Given the description of an element on the screen output the (x, y) to click on. 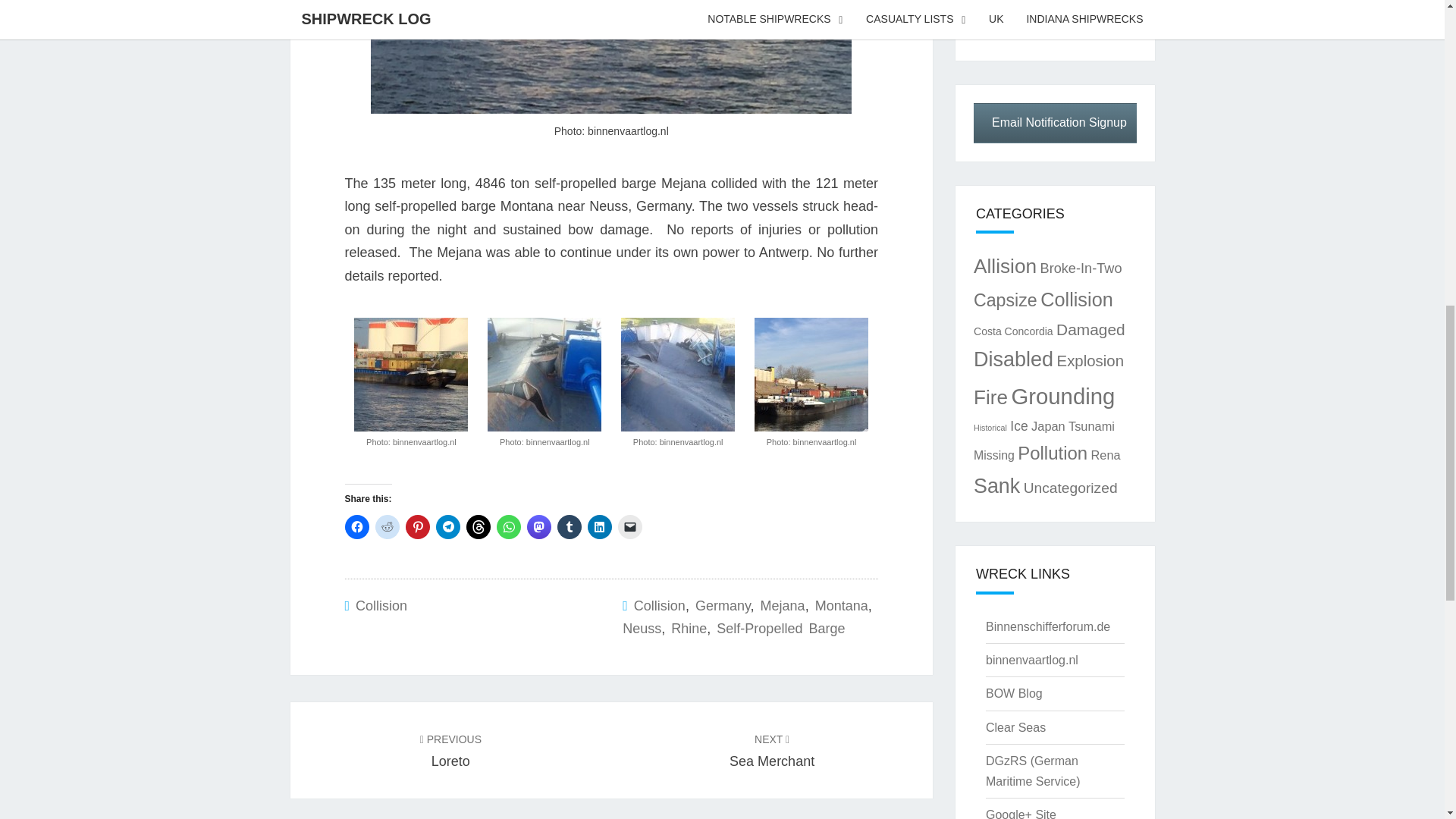
Click to share on Facebook (355, 526)
Click to share on Threads (477, 526)
Click to share on Telegram (447, 526)
Click to share on Pinterest (416, 526)
Click to share on Reddit (386, 526)
Click to share on WhatsApp (507, 526)
Click to share on Tumblr (568, 526)
Click to share on Mastodon (537, 526)
Click to email a link to a friend (629, 526)
Click to share on LinkedIn (598, 526)
